Given the description of an element on the screen output the (x, y) to click on. 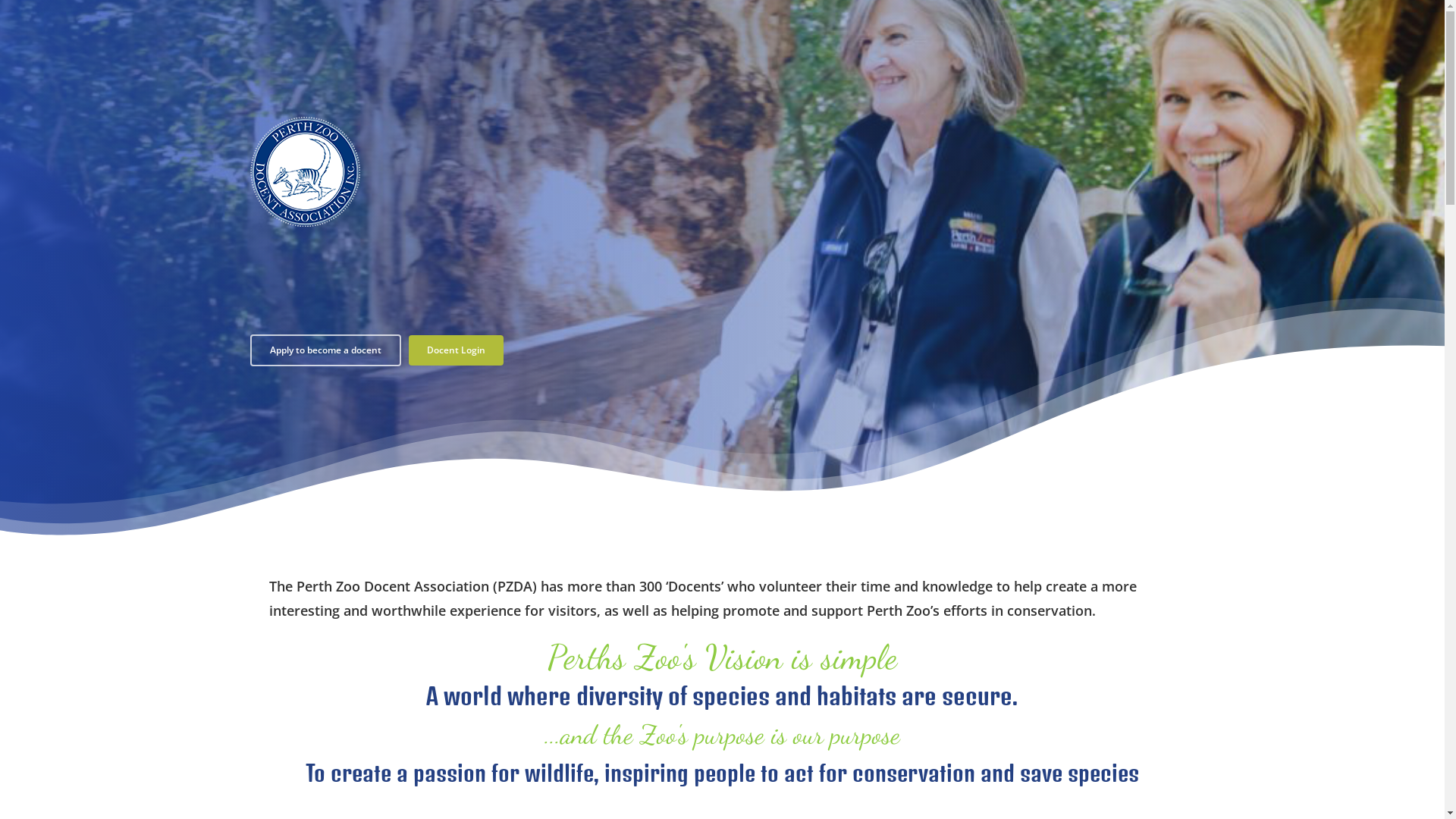
Apply to become a docent Element type: text (325, 350)
Docent Login Element type: text (455, 350)
